Given the description of an element on the screen output the (x, y) to click on. 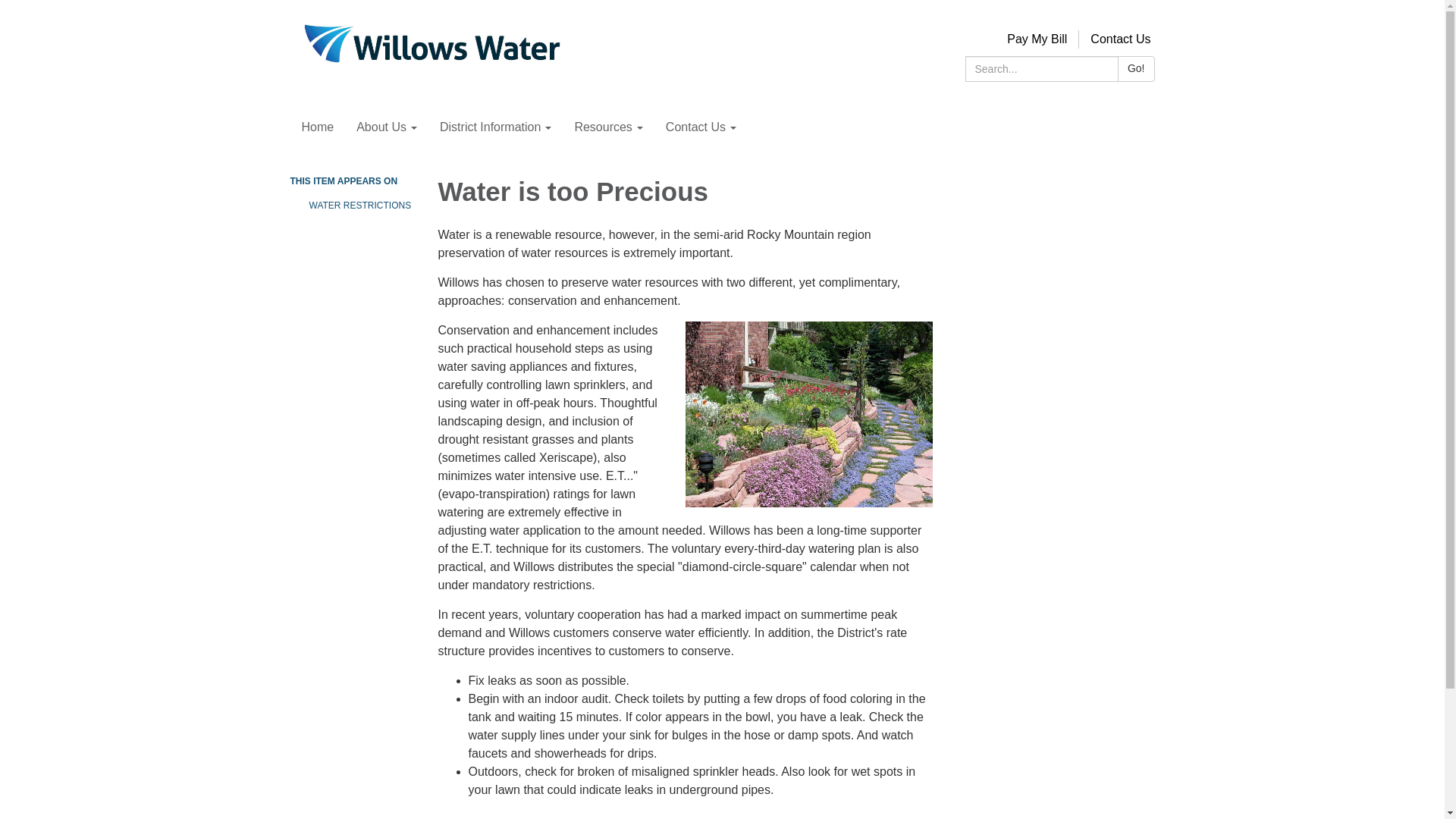
Go! (1136, 68)
Resources (607, 127)
Home (317, 127)
Contact Us (700, 127)
Contact Us (1119, 38)
About Us (386, 127)
District Information (495, 127)
Pay My Bill (1036, 38)
